Given the description of an element on the screen output the (x, y) to click on. 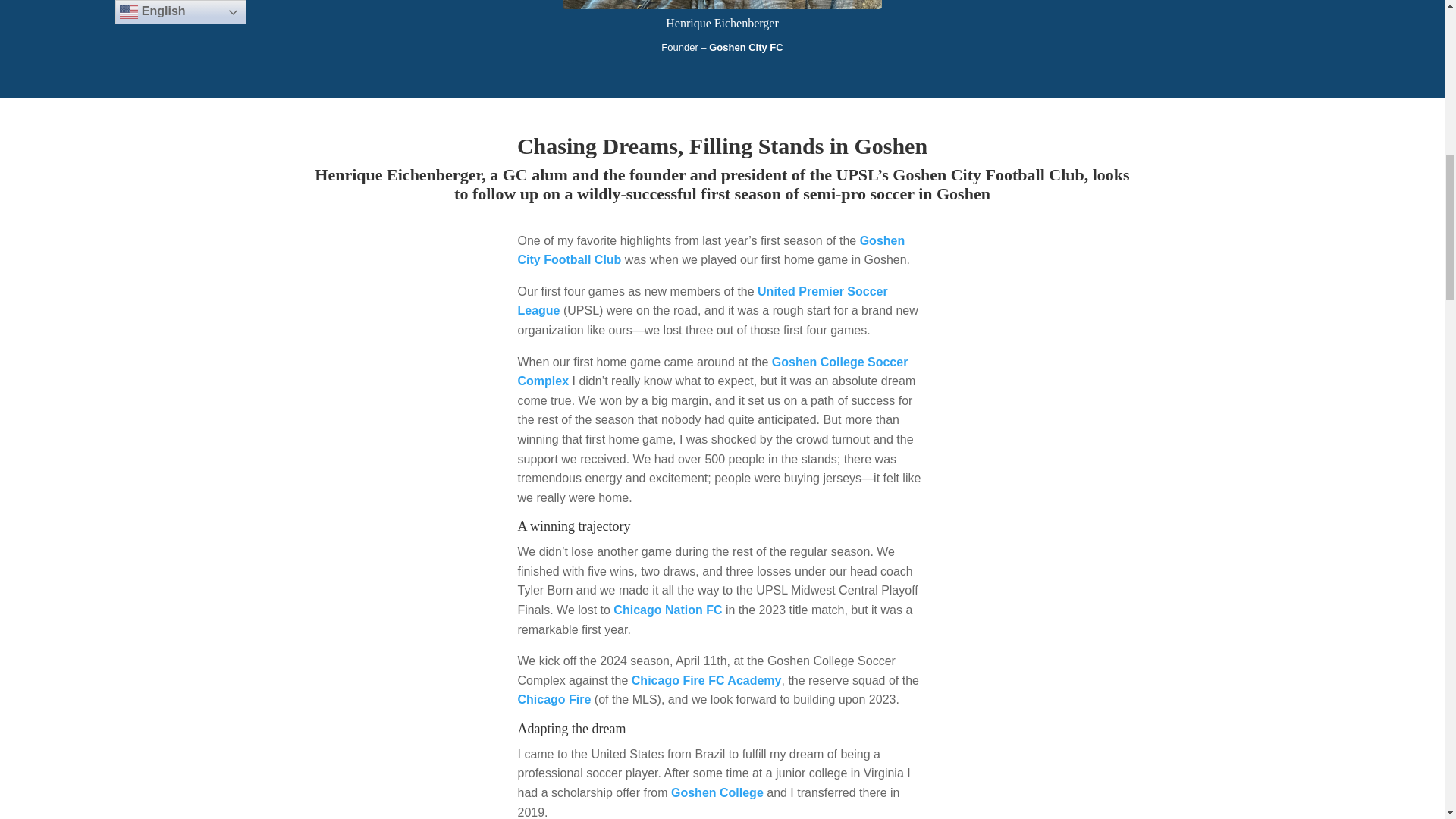
Henrique Eichenberger (722, 5)
d2de7525-78eb-4762-b1cf-00321a96d390 (722, 4)
